Given the description of an element on the screen output the (x, y) to click on. 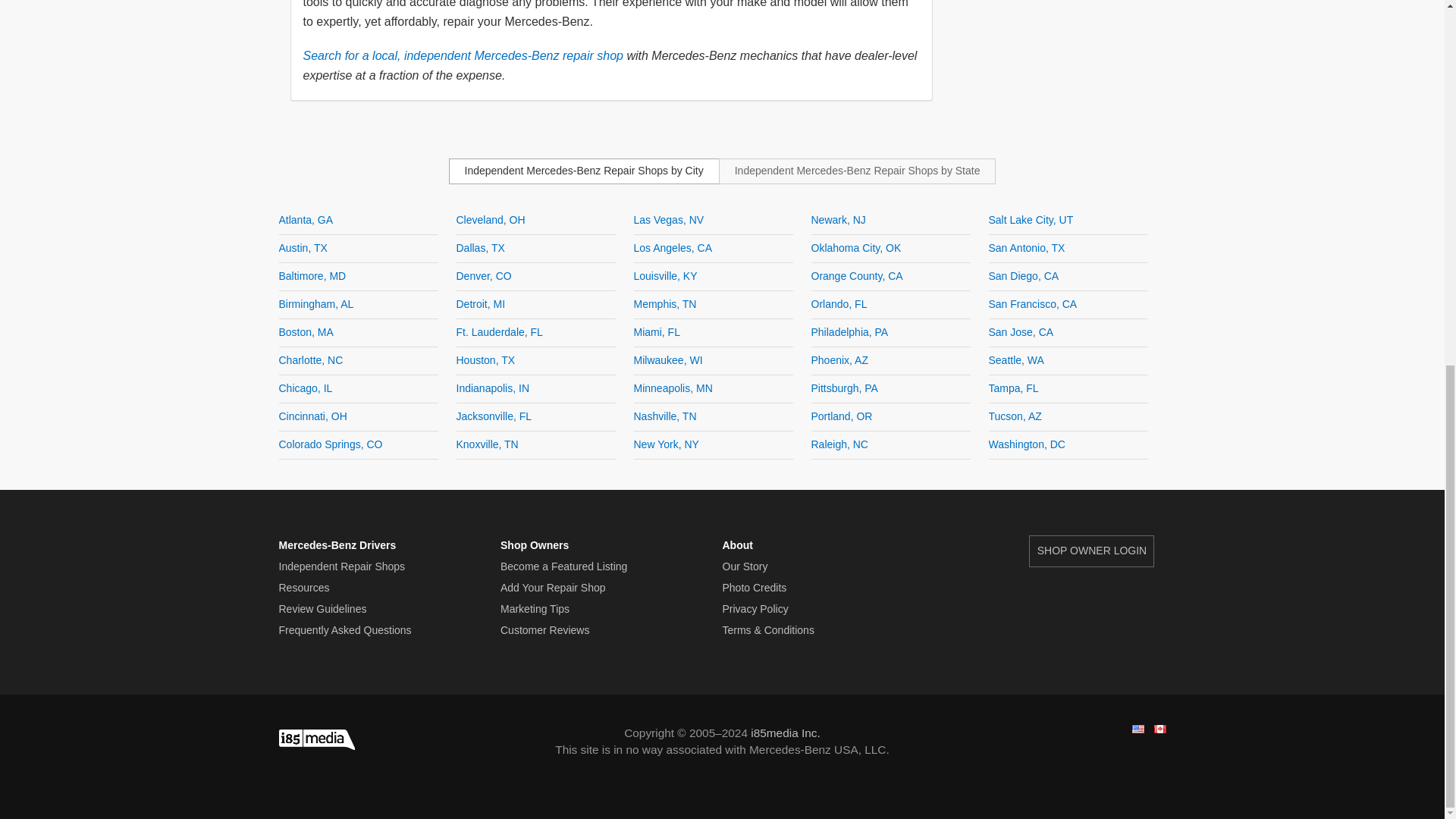
Jacksonville, FL (494, 416)
Colorado Springs, CO (330, 444)
Ft. Lauderdale, FL (500, 331)
BenzShops US (1136, 728)
Search for a local, independent Mercedes-Benz repair shop (462, 55)
Cleveland, OH (491, 219)
Denver, CO (484, 275)
Dallas, TX (481, 247)
Chicago, IL (306, 387)
Boston, MA (306, 331)
